Given the description of an element on the screen output the (x, y) to click on. 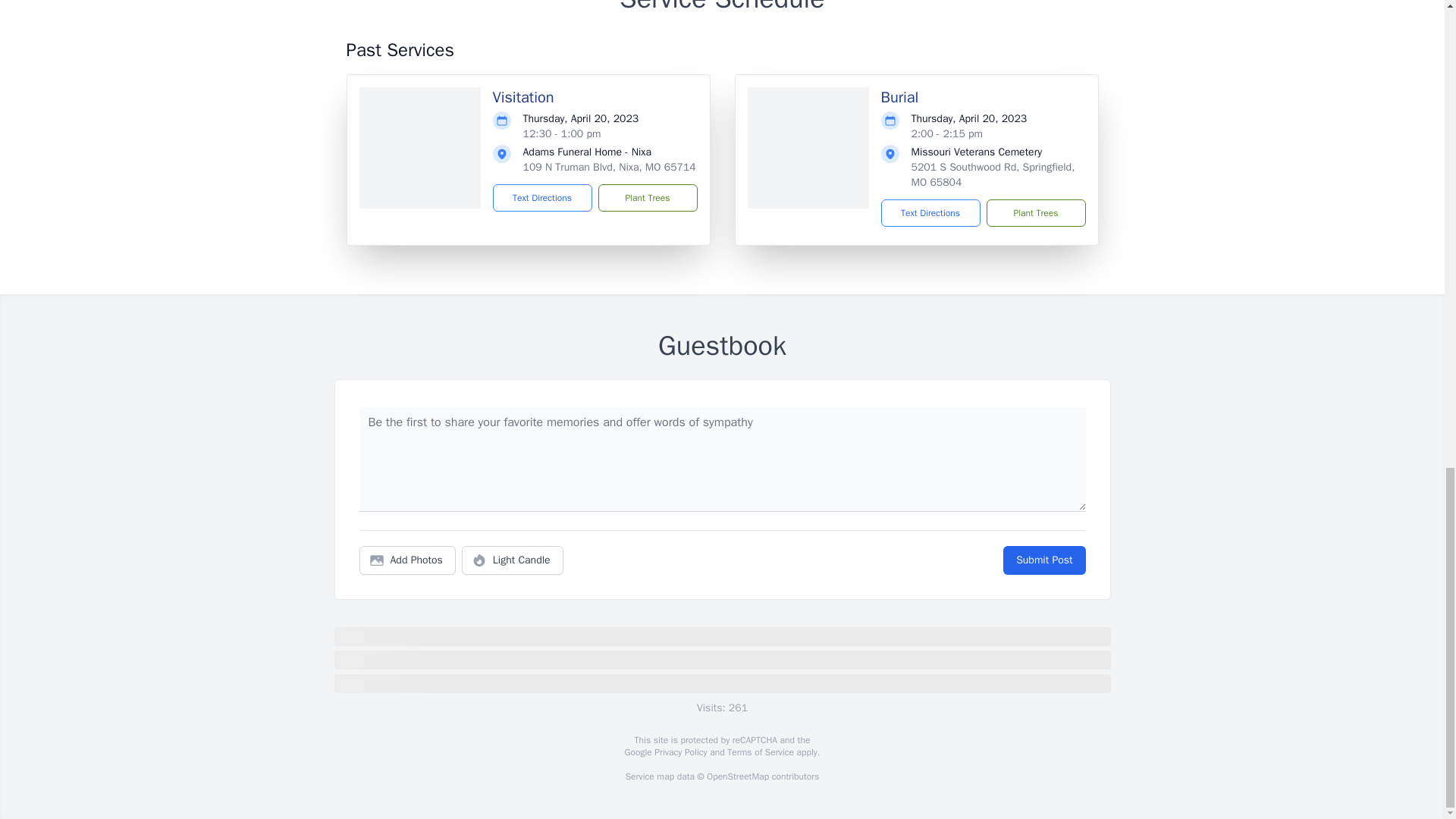
Add Photos (407, 560)
Submit Post (1043, 560)
Terms of Service (759, 752)
Plant Trees (1034, 212)
OpenStreetMap (737, 776)
Text Directions (929, 212)
Privacy Policy (679, 752)
5201 S Southwood Rd, Springfield, MO 65804 (993, 174)
109 N Truman Blvd, Nixa, MO 65714 (608, 166)
Light Candle (512, 560)
Plant Trees (646, 197)
Text Directions (542, 197)
